Given the description of an element on the screen output the (x, y) to click on. 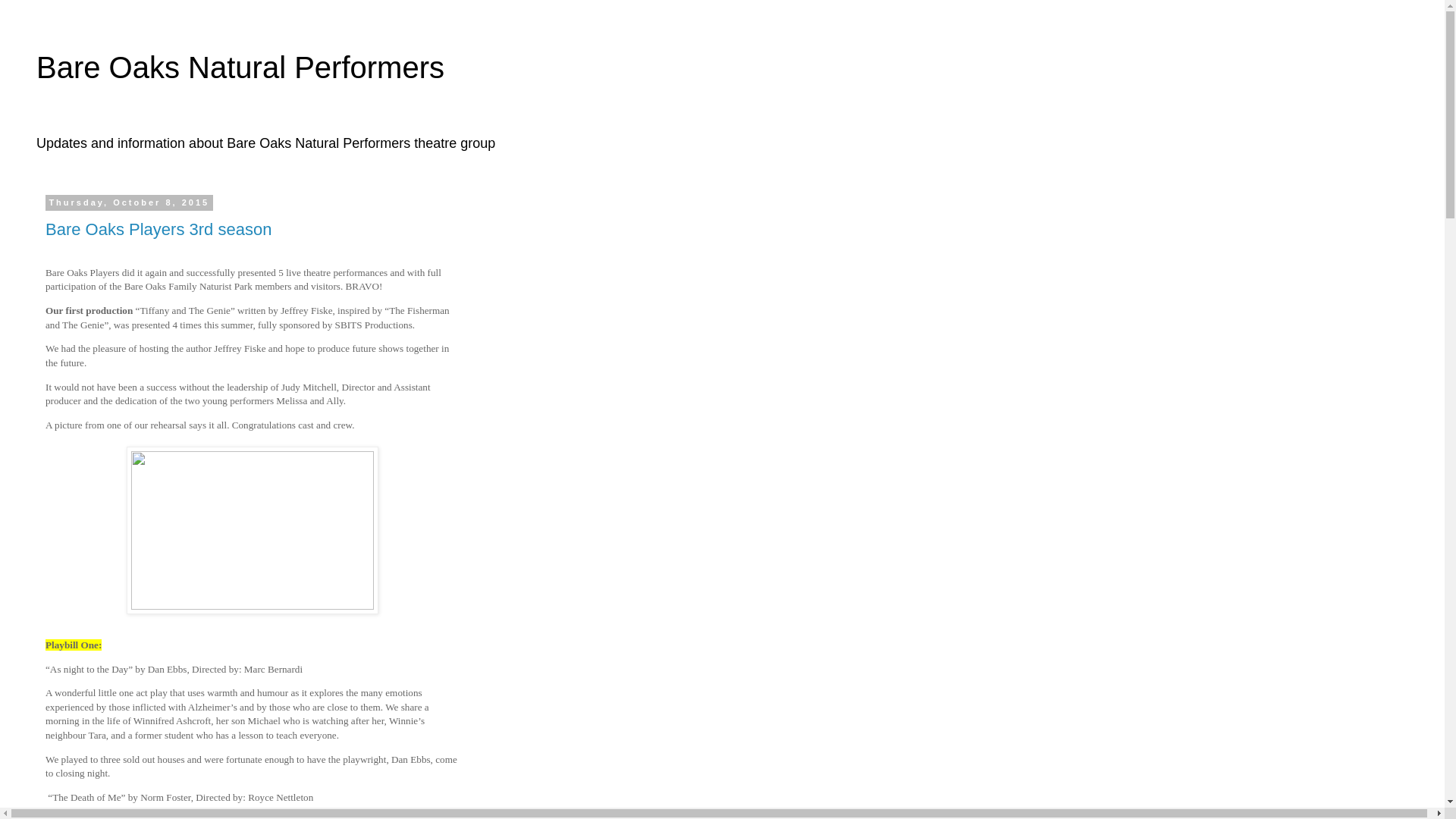
Bare Oaks Players 3rd season Element type: text (158, 228)
Bare Oaks Natural Performers Element type: text (240, 67)
